Given the description of an element on the screen output the (x, y) to click on. 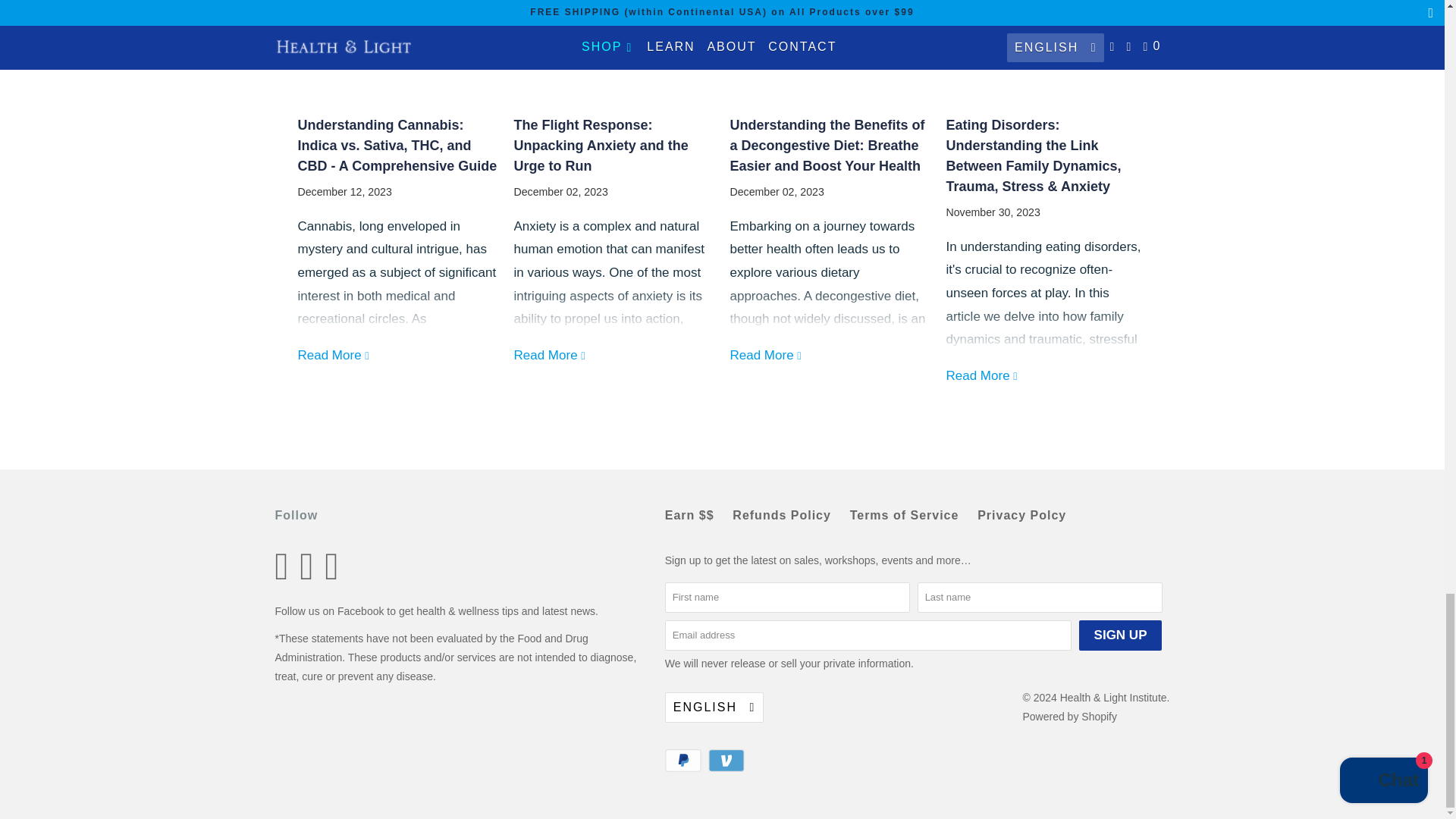
Sign Up (1119, 634)
PayPal (684, 760)
Venmo (727, 760)
